Given the description of an element on the screen output the (x, y) to click on. 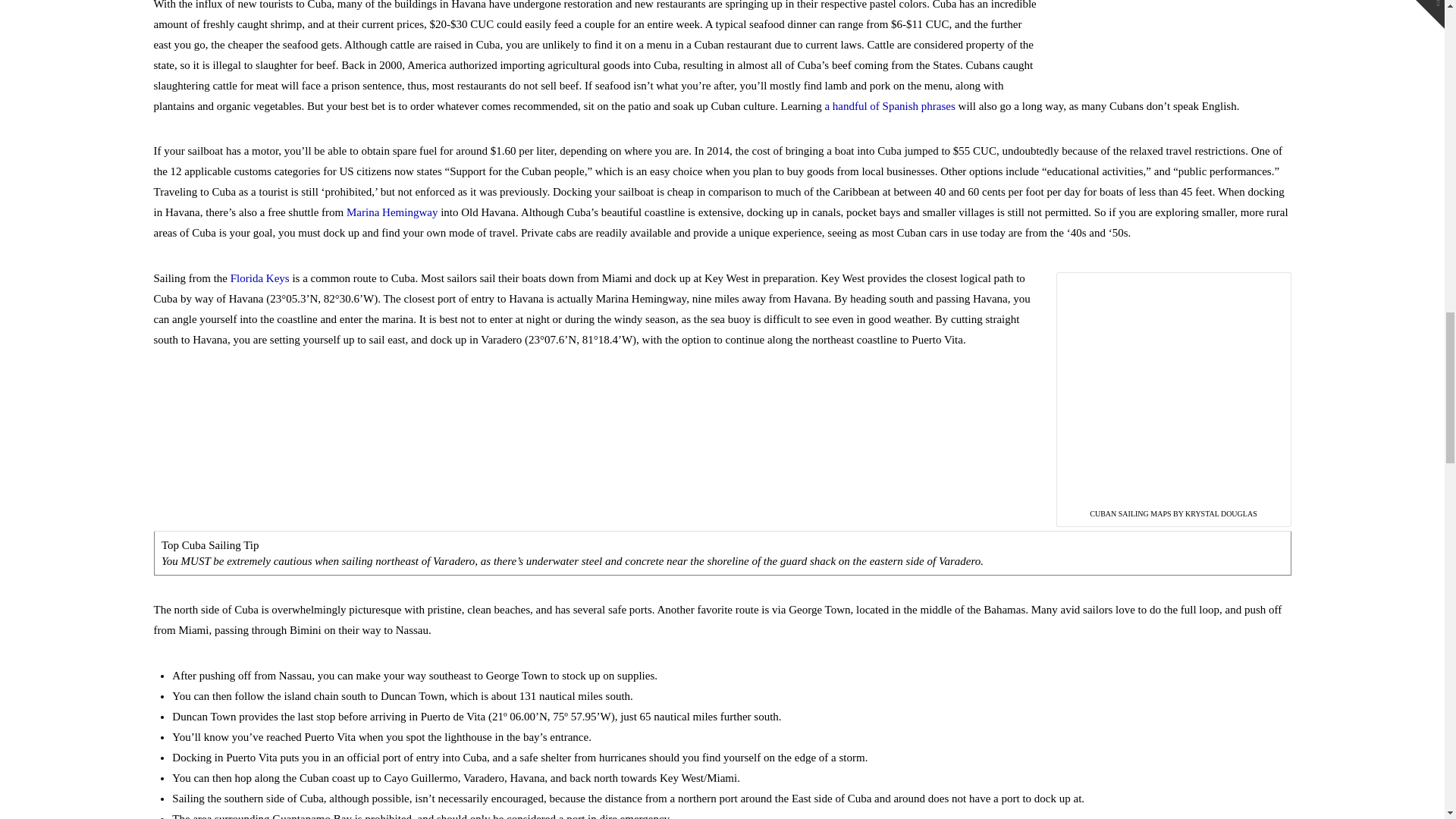
Marina Hemingway (392, 212)
a handful of Spanish phrases (889, 105)
Florida Keys (259, 277)
